Given the description of an element on the screen output the (x, y) to click on. 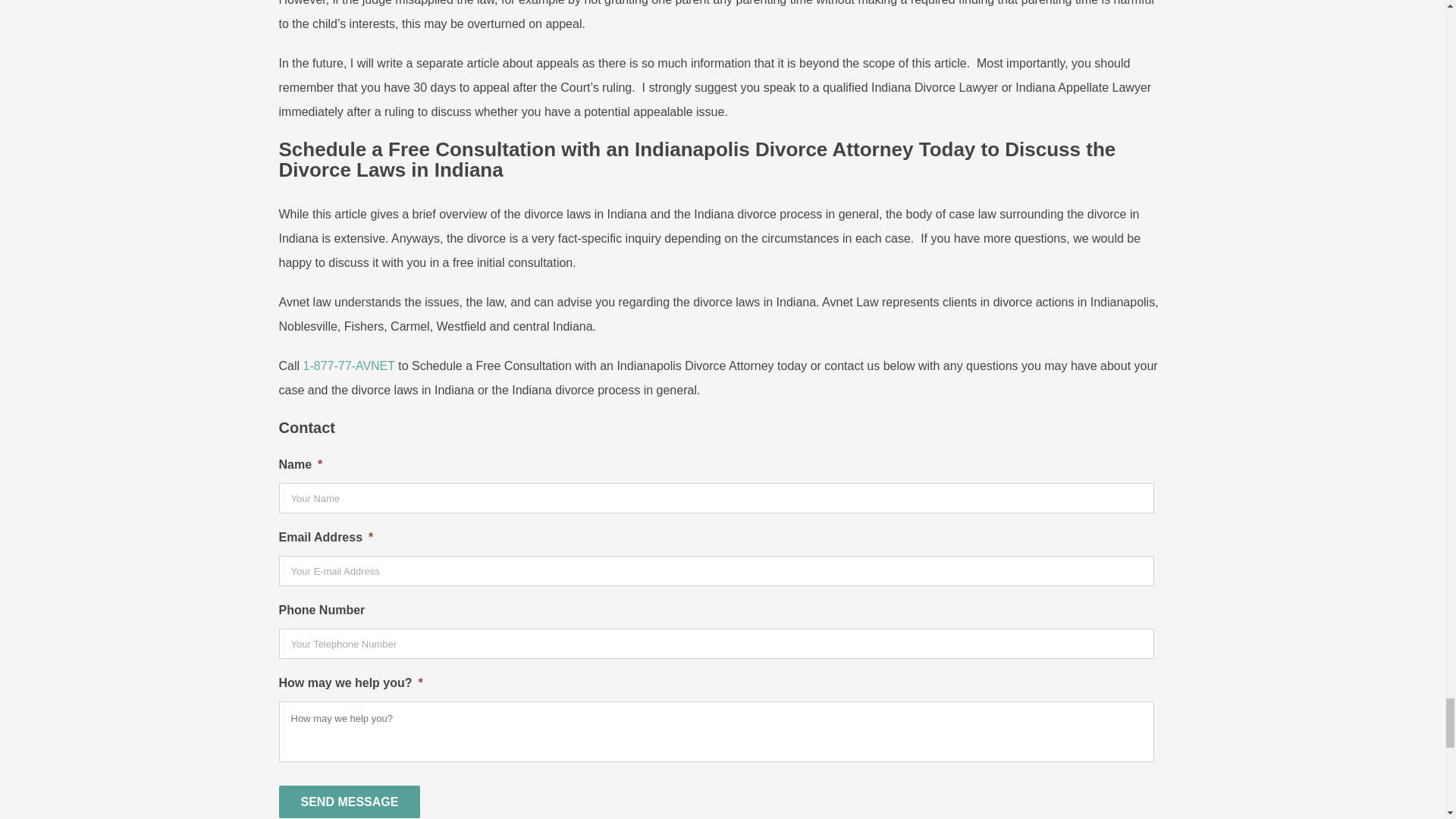
Send message (349, 801)
